Given the description of an element on the screen output the (x, y) to click on. 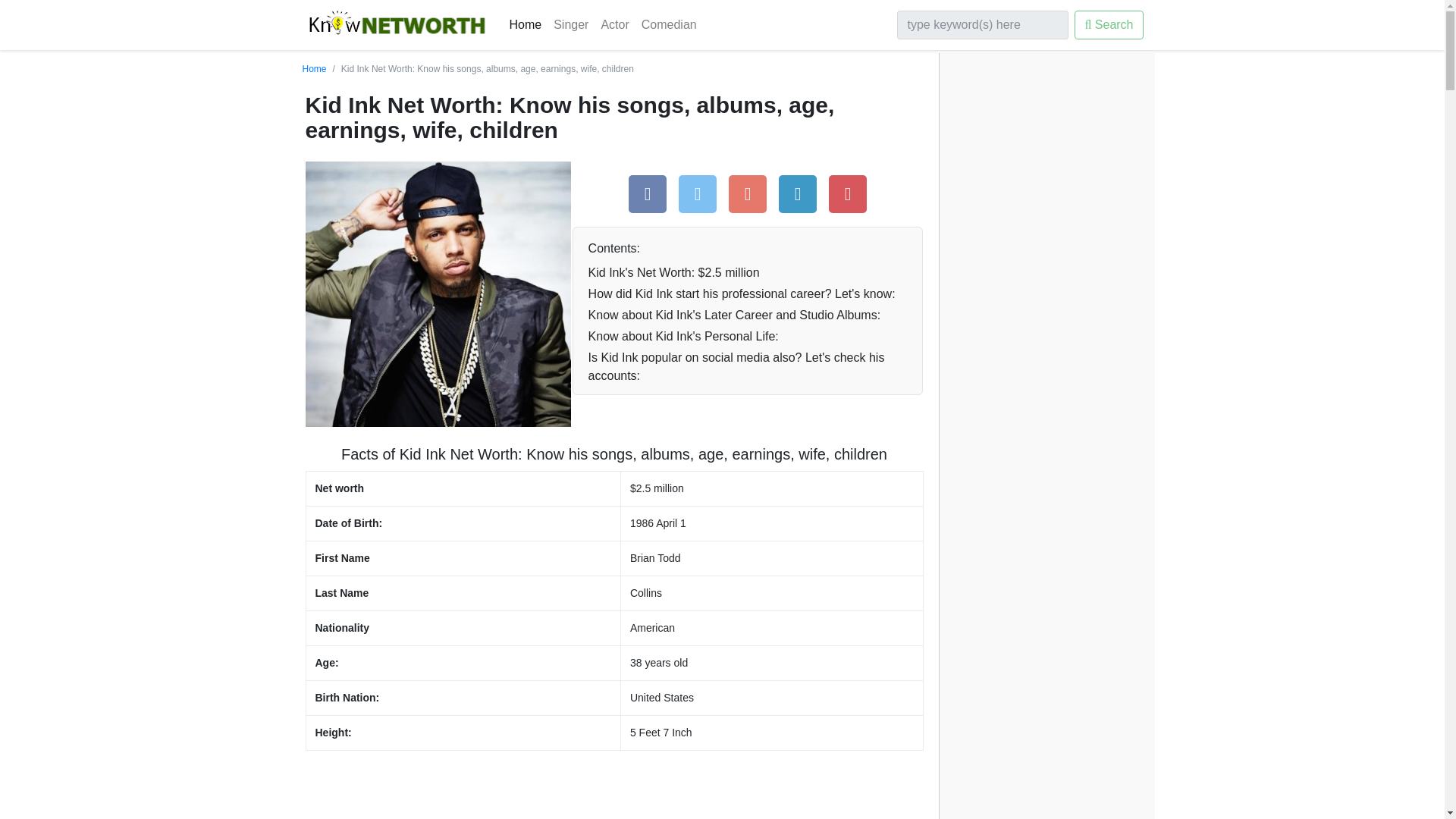
How did Kid Ink start his professional career? Let's know: (747, 293)
Advertisement (613, 790)
undefined (747, 314)
undefined (747, 366)
Search (1108, 24)
Comedian (668, 24)
Know about Kid Ink's Personal Life: (747, 336)
undefined (747, 272)
Singer (570, 24)
Actor (614, 24)
undefined (747, 293)
Home (313, 68)
Know about Kid Ink's Later Career and Studio Albums: (747, 314)
undefined (747, 336)
